Given the description of an element on the screen output the (x, y) to click on. 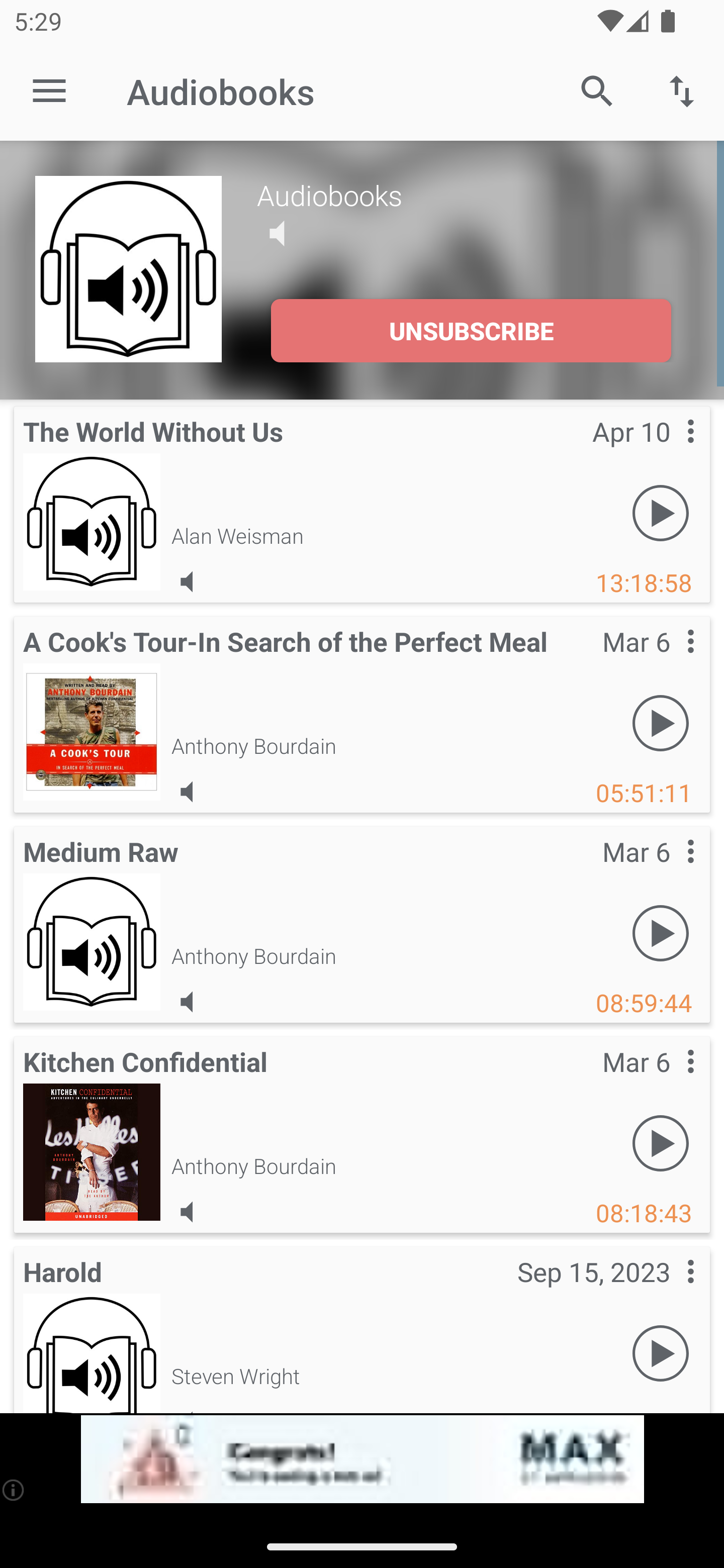
Open navigation sidebar (49, 91)
Search (597, 90)
Sort (681, 90)
UNSUBSCRIBE (470, 330)
Contextual menu (668, 451)
Play (660, 513)
Contextual menu (668, 661)
Play (660, 723)
Contextual menu (668, 870)
Play (660, 933)
Contextual menu (668, 1080)
Play (660, 1143)
Contextual menu (668, 1290)
Play (660, 1353)
app-monetization (362, 1459)
(i) (14, 1489)
